Given the description of an element on the screen output the (x, y) to click on. 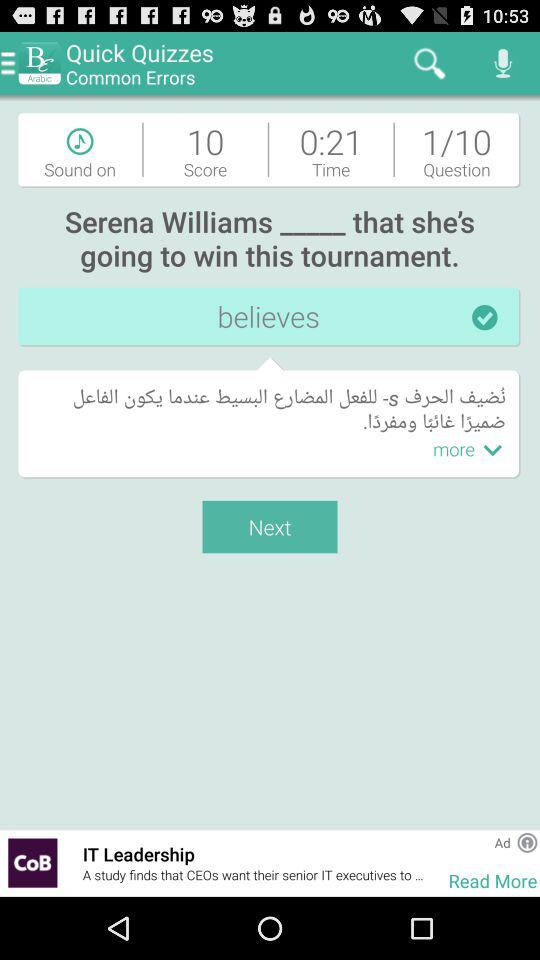
show advertisement info (527, 842)
